Given the description of an element on the screen output the (x, y) to click on. 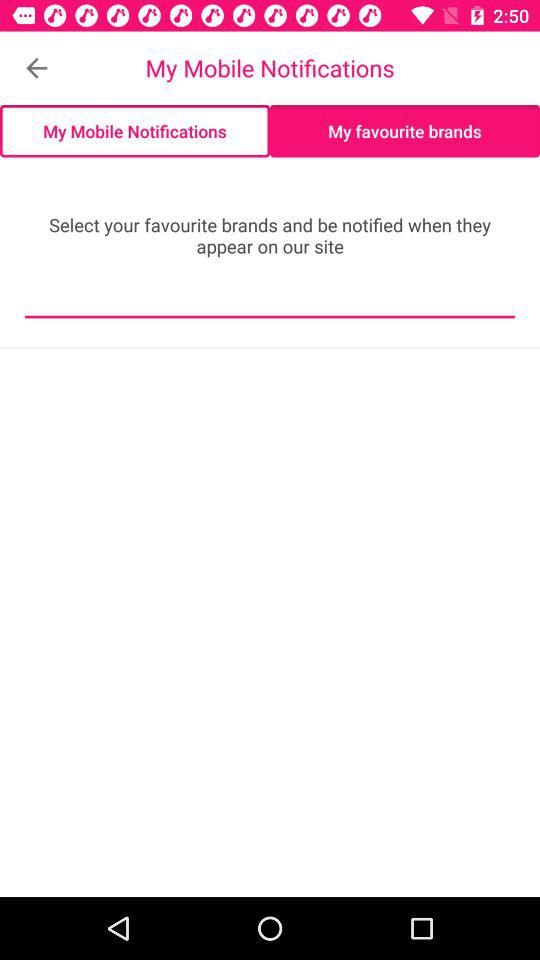
tap the icon below select your favourite (269, 302)
